Given the description of an element on the screen output the (x, y) to click on. 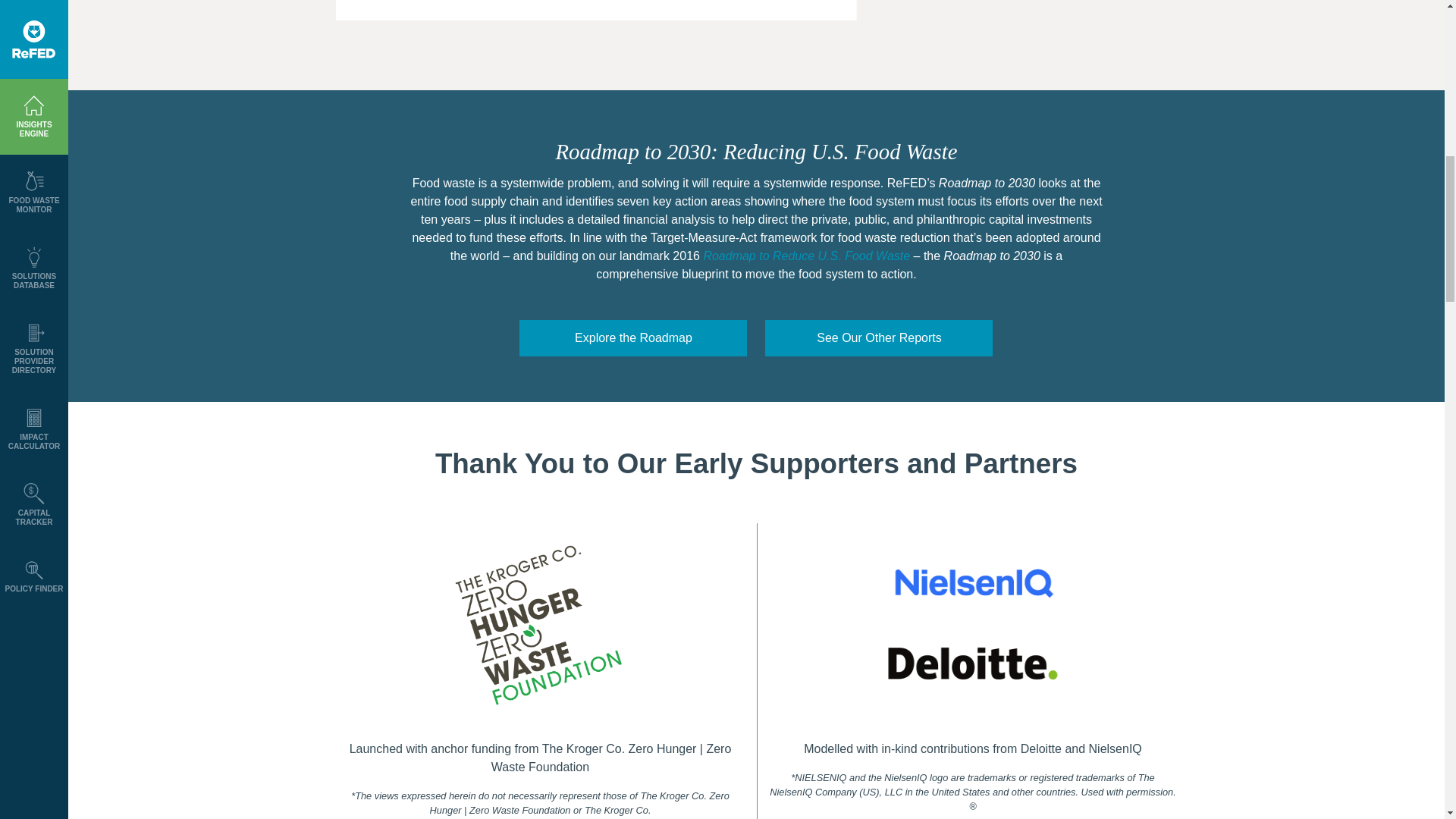
Explore the Roadmap (632, 338)
Roadmap to Reduce U.S. Food Waste (806, 255)
See Our Other Reports (878, 338)
Visit the Policy Finder (611, 1)
